Given the description of an element on the screen output the (x, y) to click on. 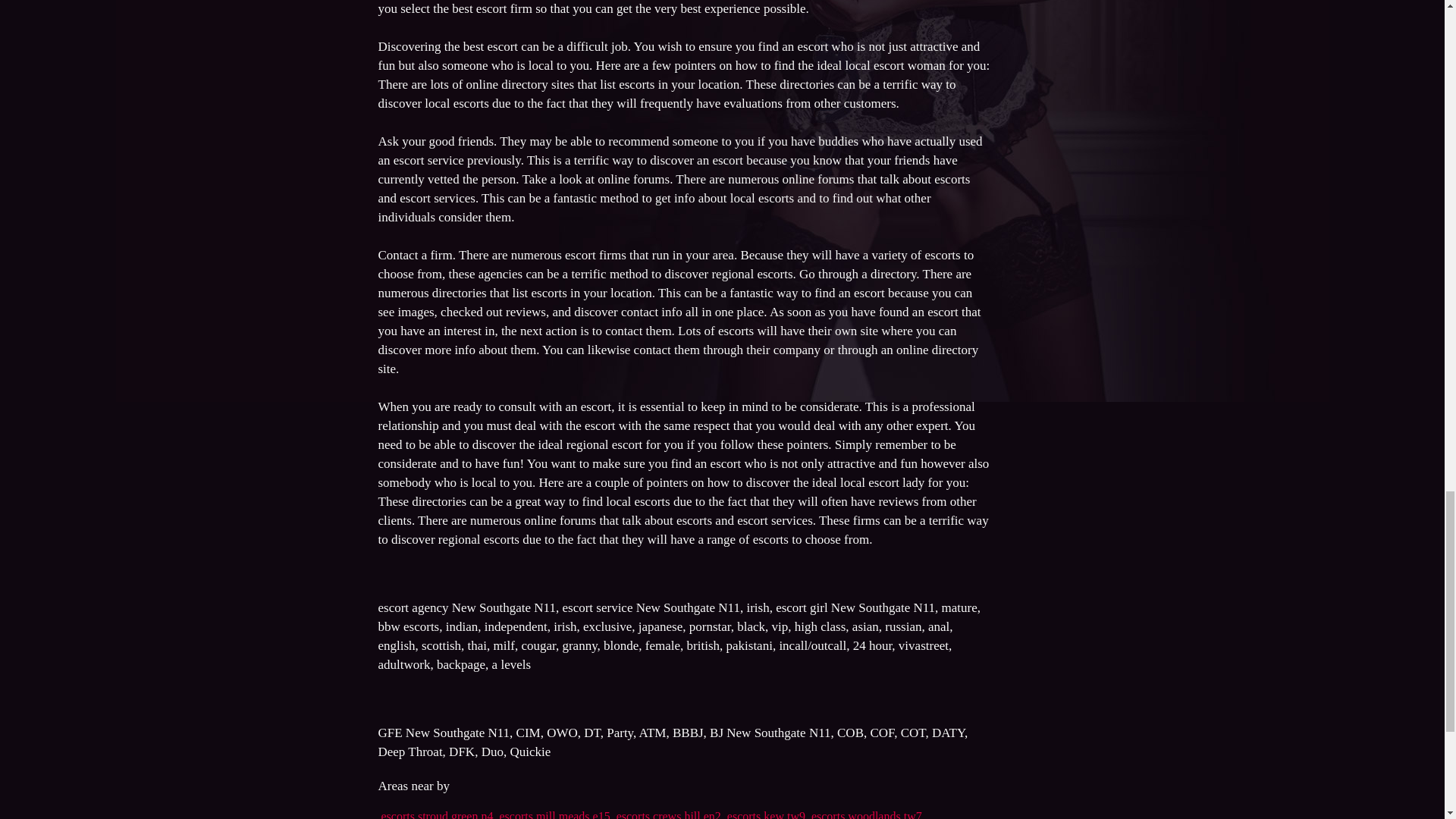
escorts woodlands tw7 (865, 814)
escorts kew tw9 (765, 814)
escorts mill meads e15 (554, 814)
escorts stroud green n4 (436, 814)
escorts crews hill en2 (667, 814)
